Given the description of an element on the screen output the (x, y) to click on. 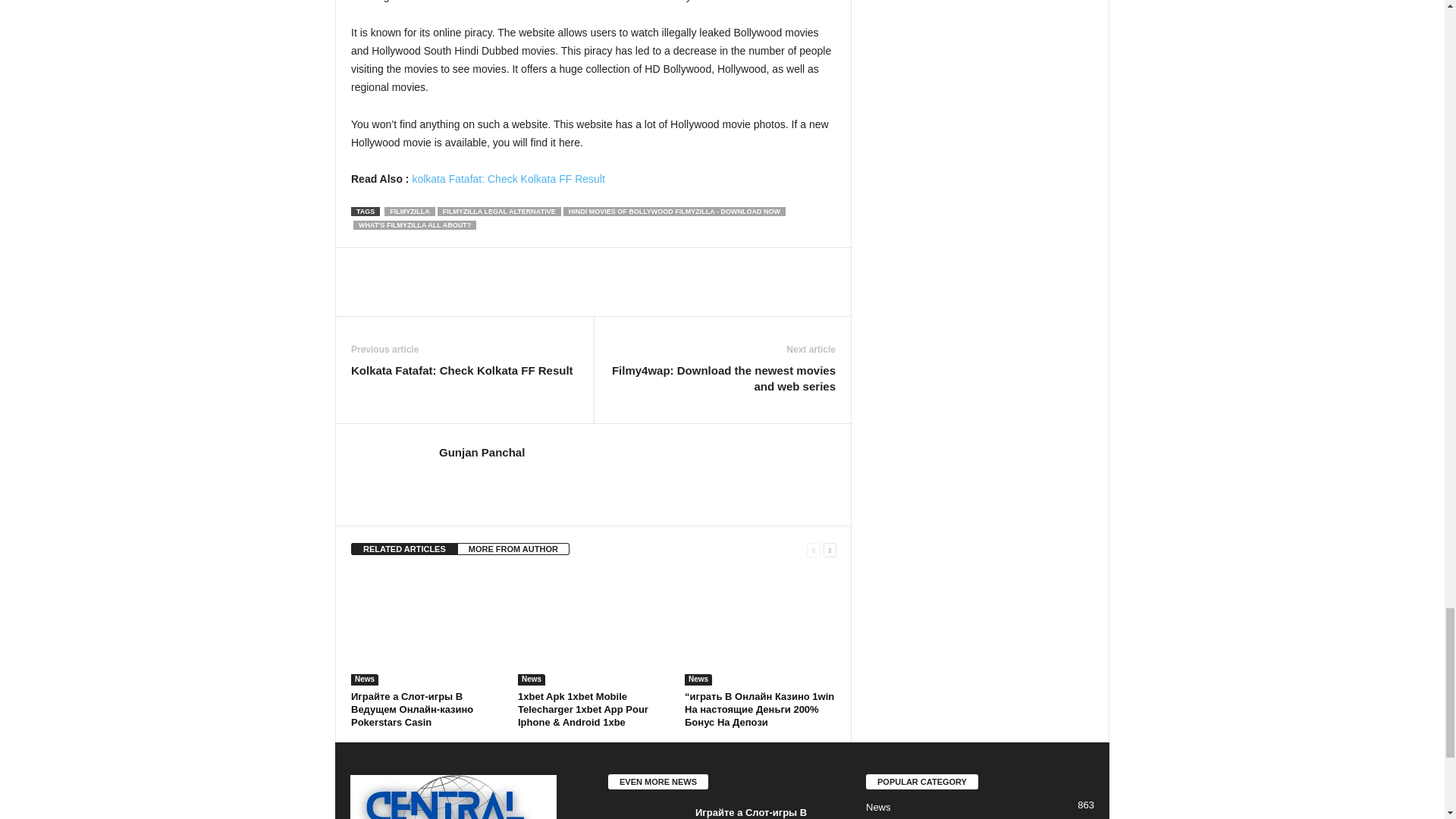
bottomFacebookLike (390, 263)
